Given the description of an element on the screen output the (x, y) to click on. 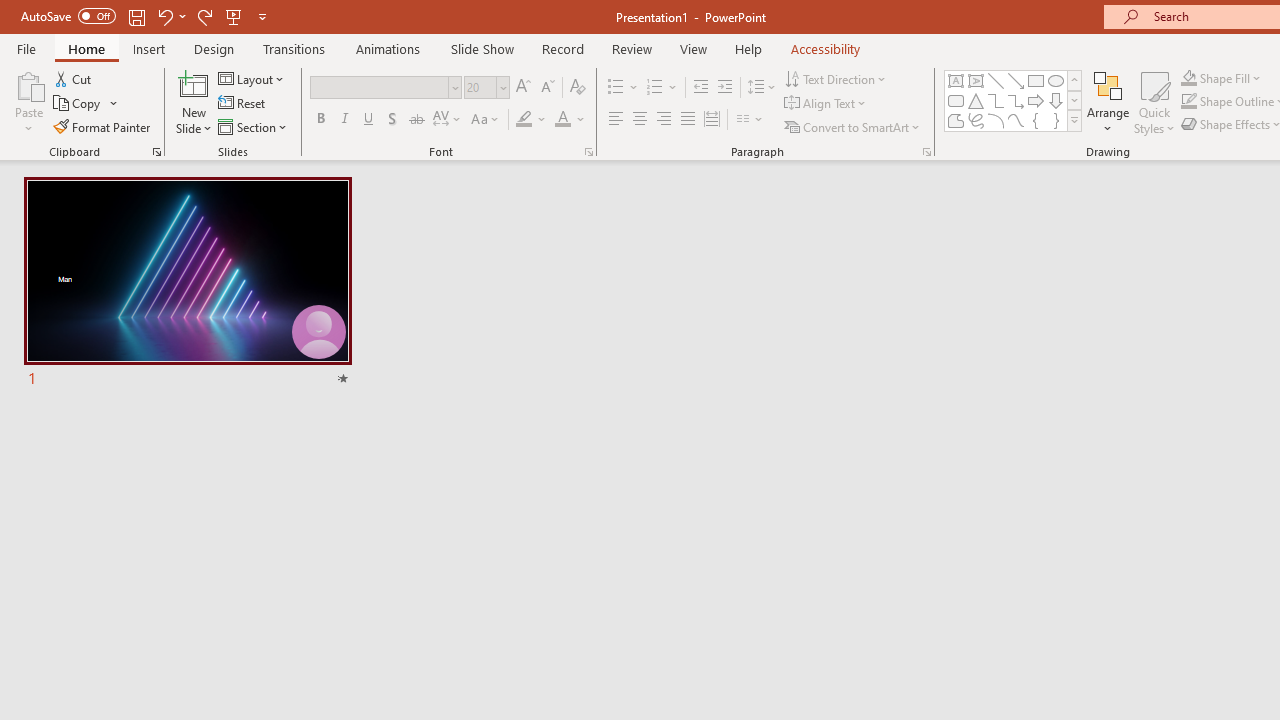
Shape Fill Orange, Accent 2 (1188, 78)
Arc (995, 120)
Section (254, 126)
Connector: Elbow (995, 100)
Character Spacing (447, 119)
Format Painter (103, 126)
Clear Formatting (577, 87)
Arrow: Down (1055, 100)
Cut (73, 78)
Office Clipboard... (156, 151)
